Given the description of an element on the screen output the (x, y) to click on. 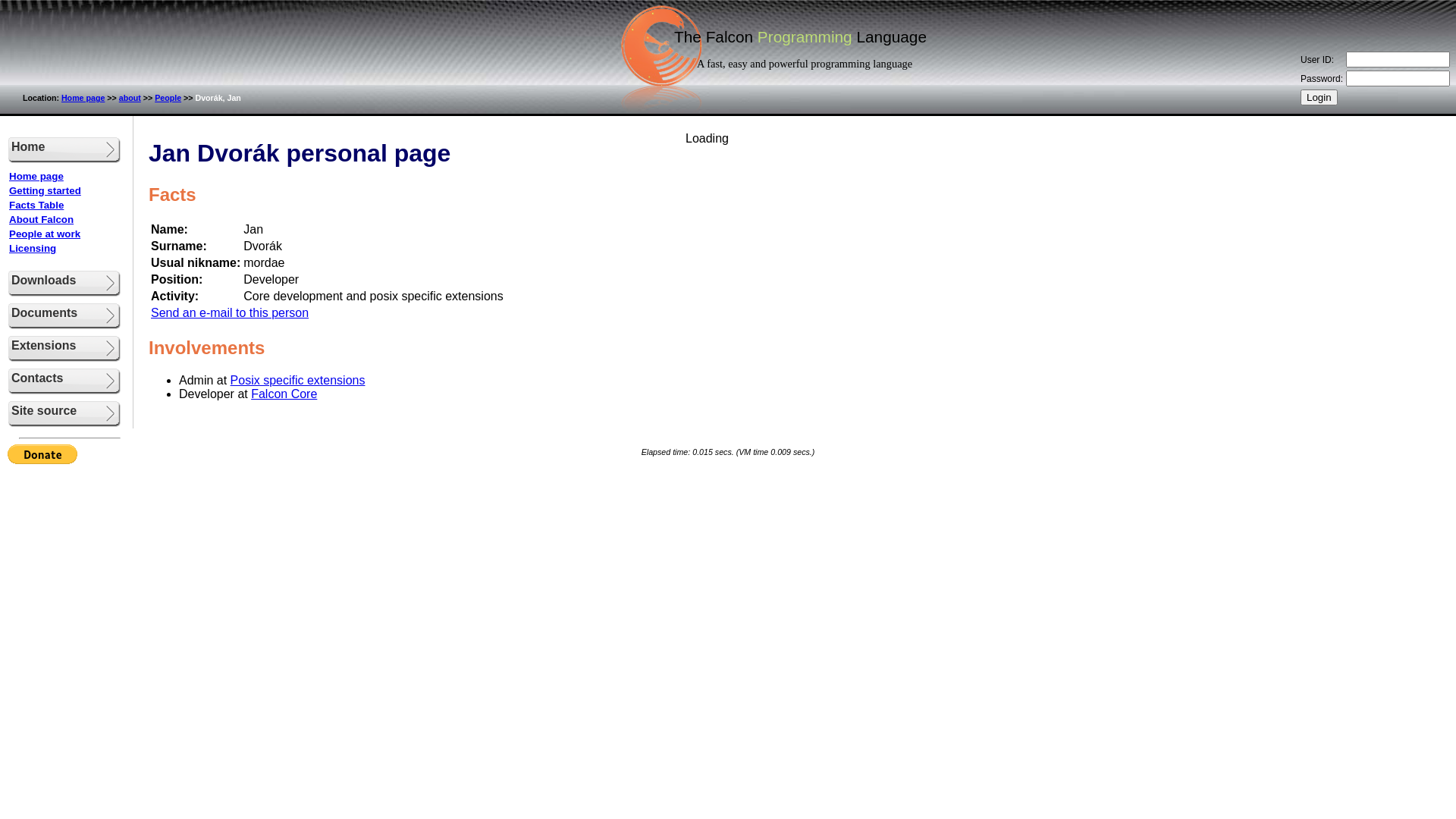
People Element type: text (167, 97)
Licensing Element type: text (32, 248)
Falcon Core Element type: text (283, 393)
Login Element type: text (1318, 97)
Home page Element type: text (82, 97)
Send an e-mail to this person Element type: text (229, 312)
Posix specific extensions Element type: text (297, 379)
People at work Element type: text (44, 233)
about Element type: text (130, 97)
Facts Table Element type: text (36, 204)
Getting started Element type: text (45, 190)
Home page Element type: text (36, 176)
About Falcon Element type: text (41, 219)
